Given the description of an element on the screen output the (x, y) to click on. 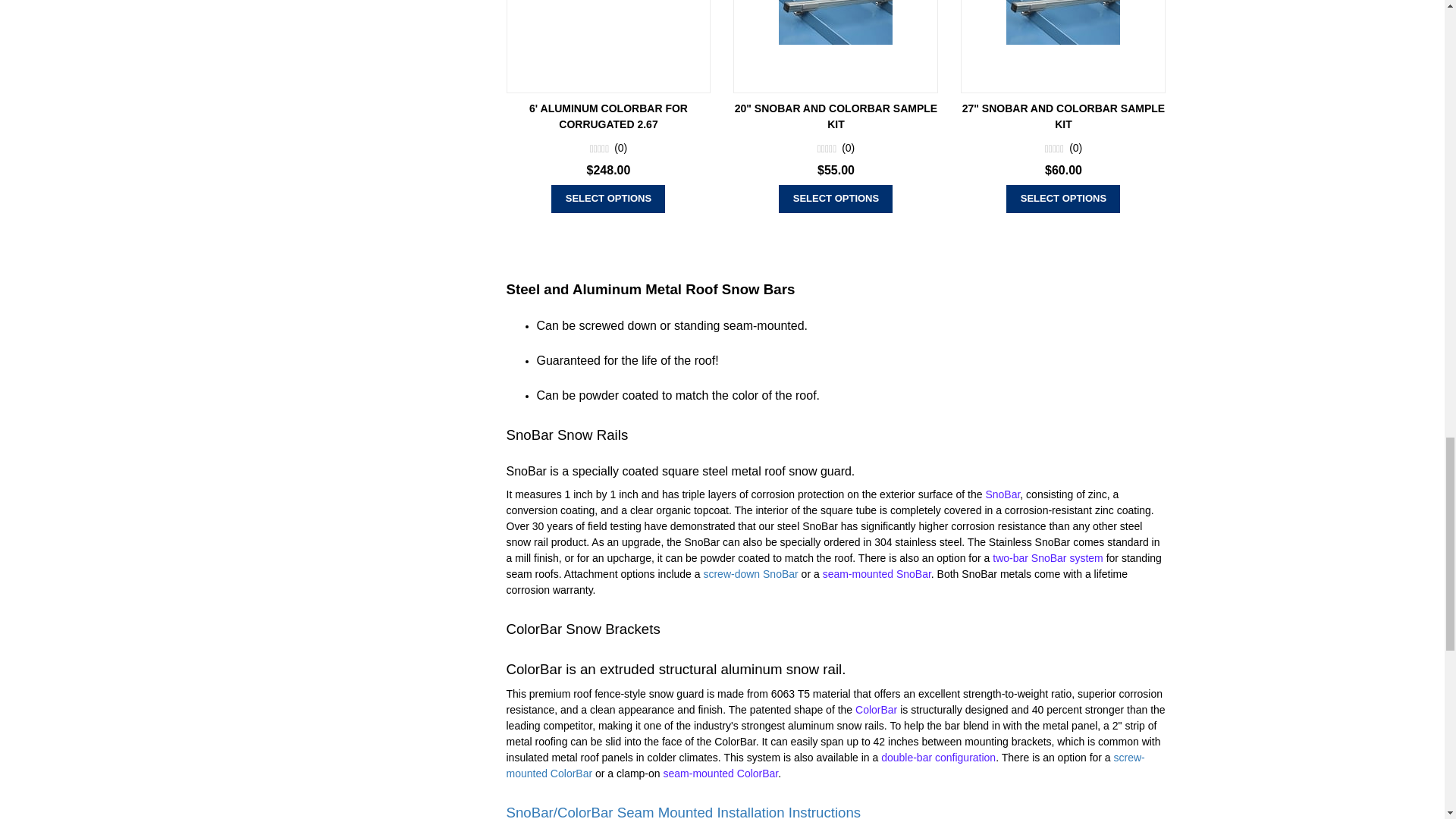
Clamp On Seam Mounted Snow Rails (876, 573)
Two Bar Aluminum ColorBar for Standing Seam Metal Roofs (937, 757)
ColorBar Mounted With Screws (825, 765)
SnoBar 6 foot Section  (1002, 494)
ColorBar in Six Foot Sections (876, 709)
SnoBar ColorBar Seam Mounted Installation Instructions (683, 807)
Double Bar SnoBar for Standing Seam Roofs (1047, 558)
Screw Mounted Snow Rails (751, 573)
ColorBar Standing Seam Snow Rails (719, 773)
